Given the description of an element on the screen output the (x, y) to click on. 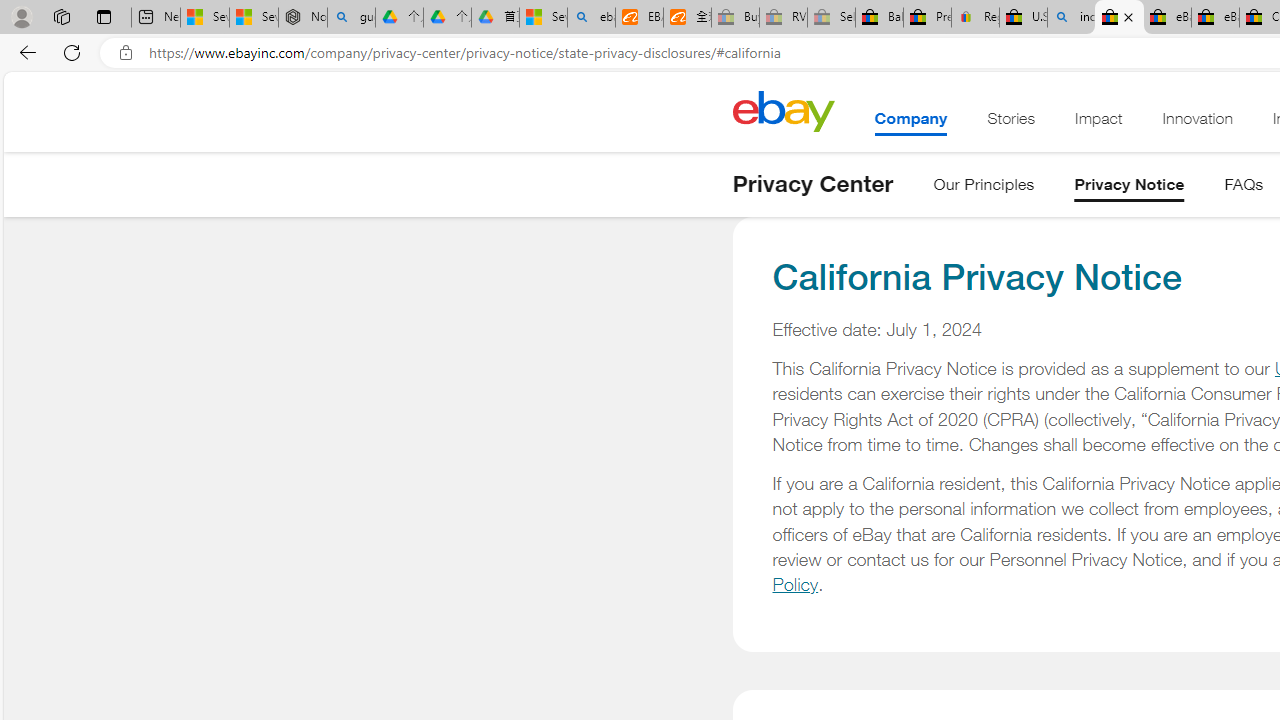
Personal Profile (21, 16)
Privacy Center (812, 183)
Tab actions menu (104, 16)
ebay - Search (591, 17)
Our Principles (984, 188)
View site information (125, 53)
eBay Inc. Reports Third Quarter 2023 Results (1215, 17)
Buy Auto Parts & Accessories | eBay - Sleeping (735, 17)
guge yunpan - Search (351, 17)
Privacy Notice (1129, 188)
Refresh (72, 52)
FAQs (1243, 188)
